Given the description of an element on the screen output the (x, y) to click on. 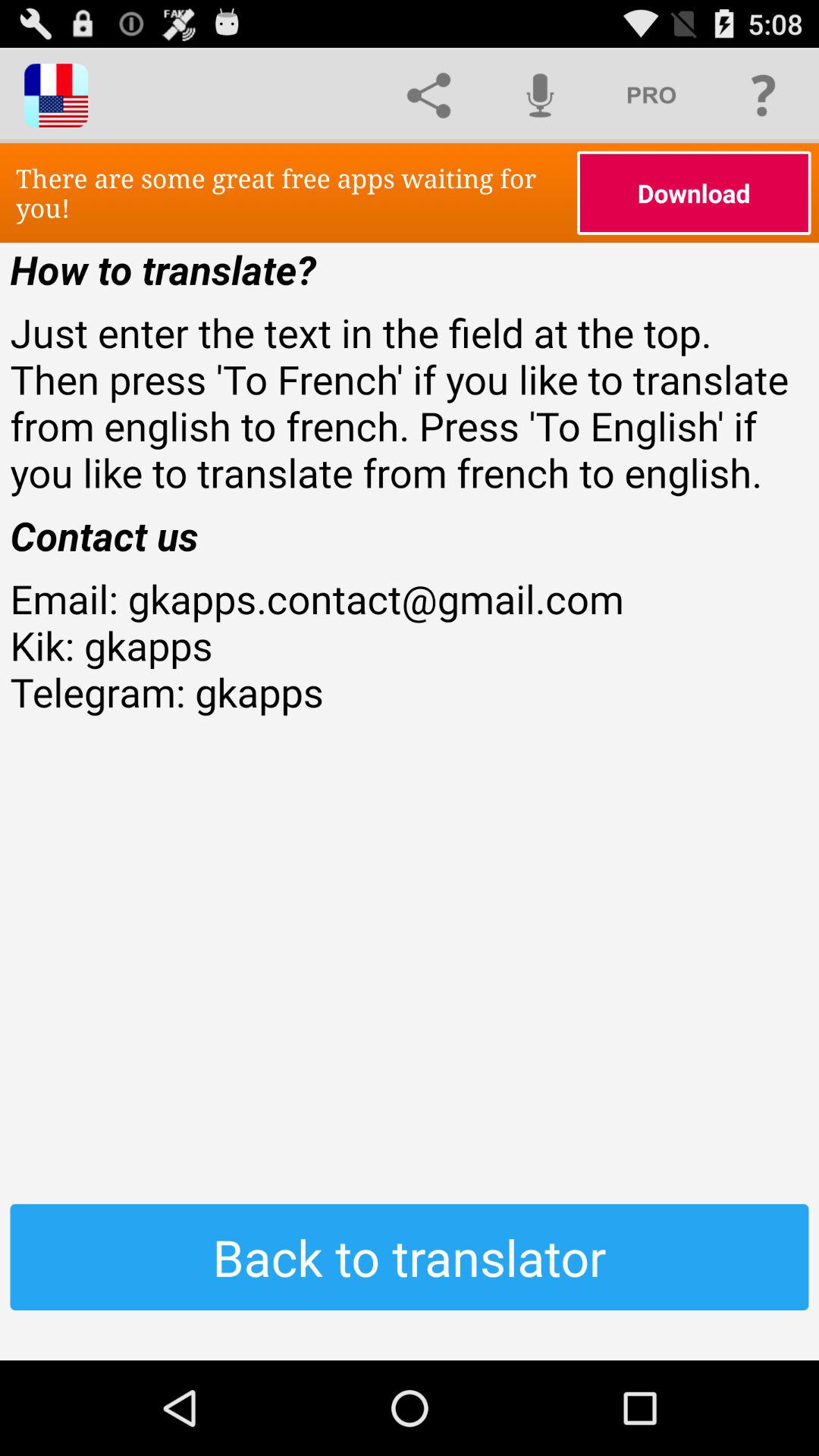
turn on the item above back to translator item (409, 691)
